Given the description of an element on the screen output the (x, y) to click on. 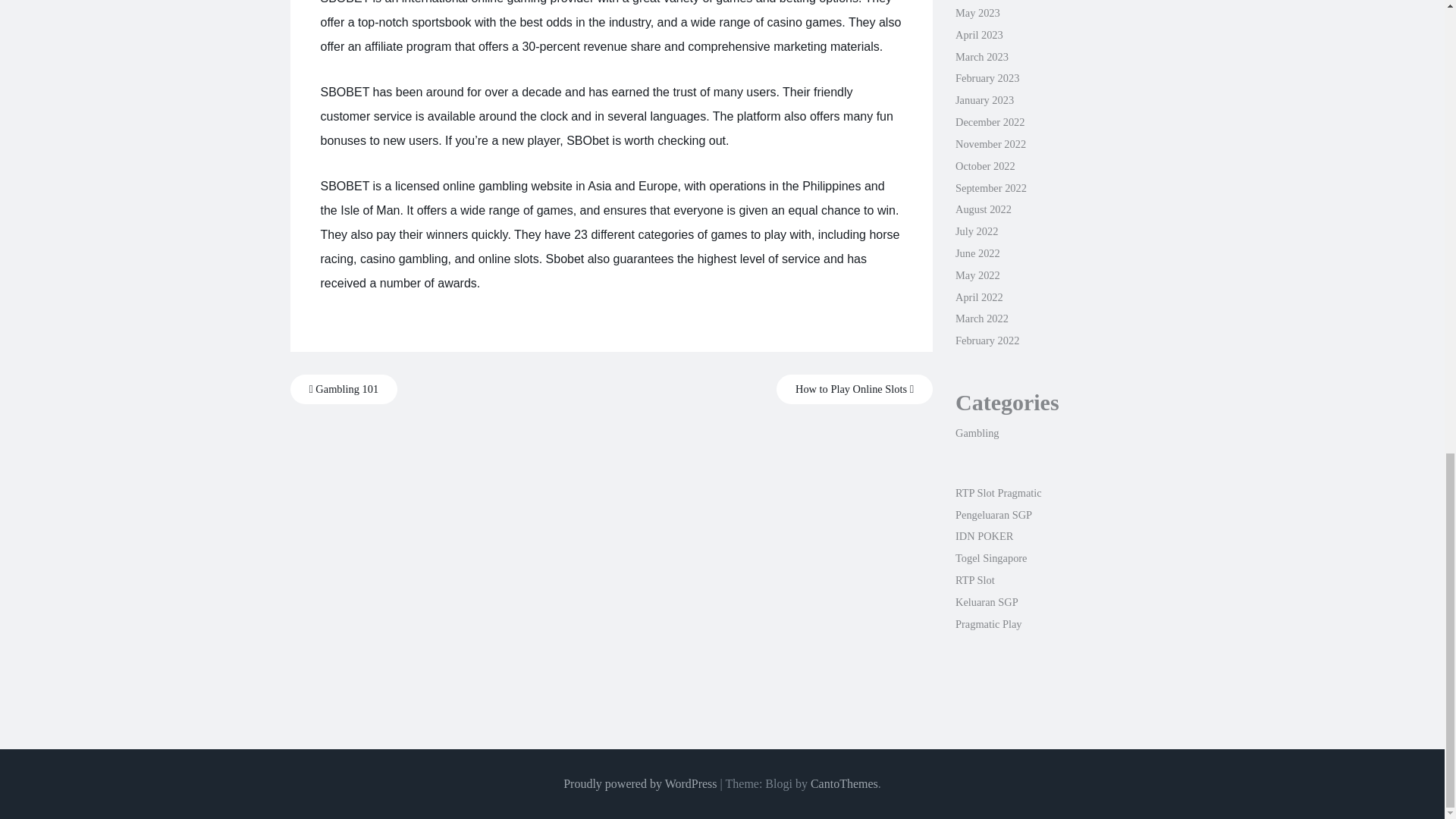
November 2022 (990, 143)
Gambling 101 (343, 389)
March 2023 (982, 56)
How to Play Online Slots (854, 389)
February 2023 (987, 78)
April 2023 (979, 34)
December 2022 (990, 121)
May 2023 (977, 12)
January 2023 (984, 100)
October 2022 (984, 165)
